Given the description of an element on the screen output the (x, y) to click on. 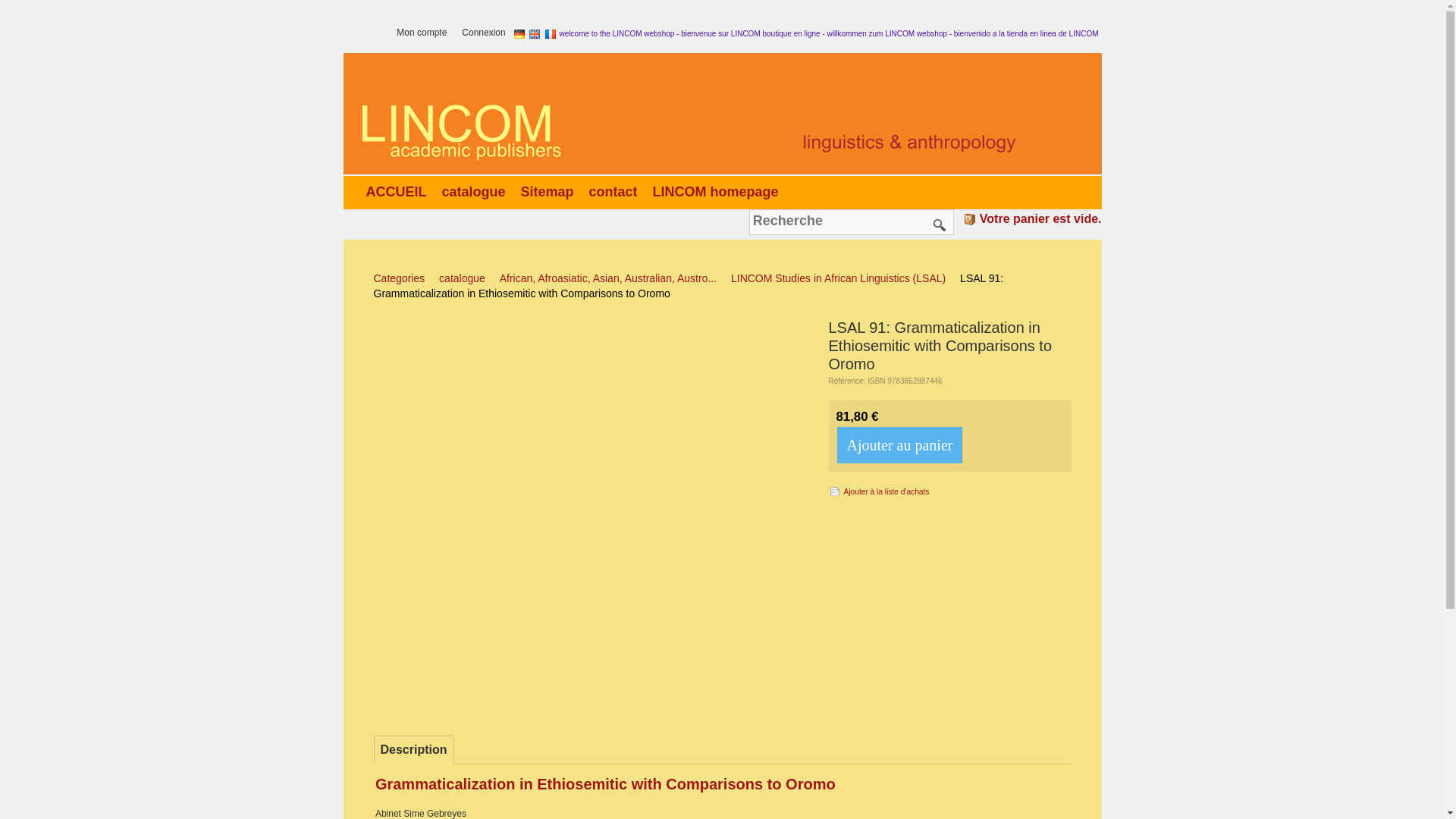
Lancer la recherche (940, 225)
Connexion (486, 32)
Mon compte (425, 32)
ACCUEIL (399, 190)
catalogue (476, 190)
